Given the description of an element on the screen output the (x, y) to click on. 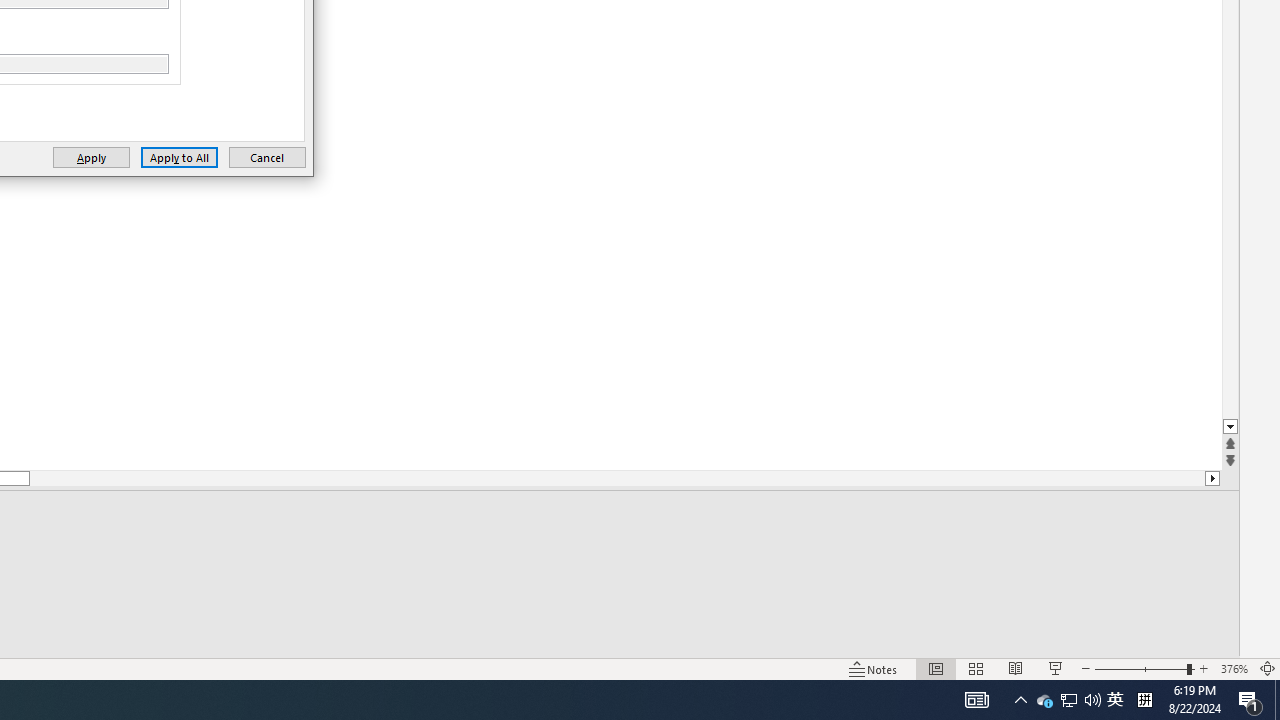
Zoom 376% (1234, 668)
Apply (91, 157)
Apply to All (178, 157)
